Given the description of an element on the screen output the (x, y) to click on. 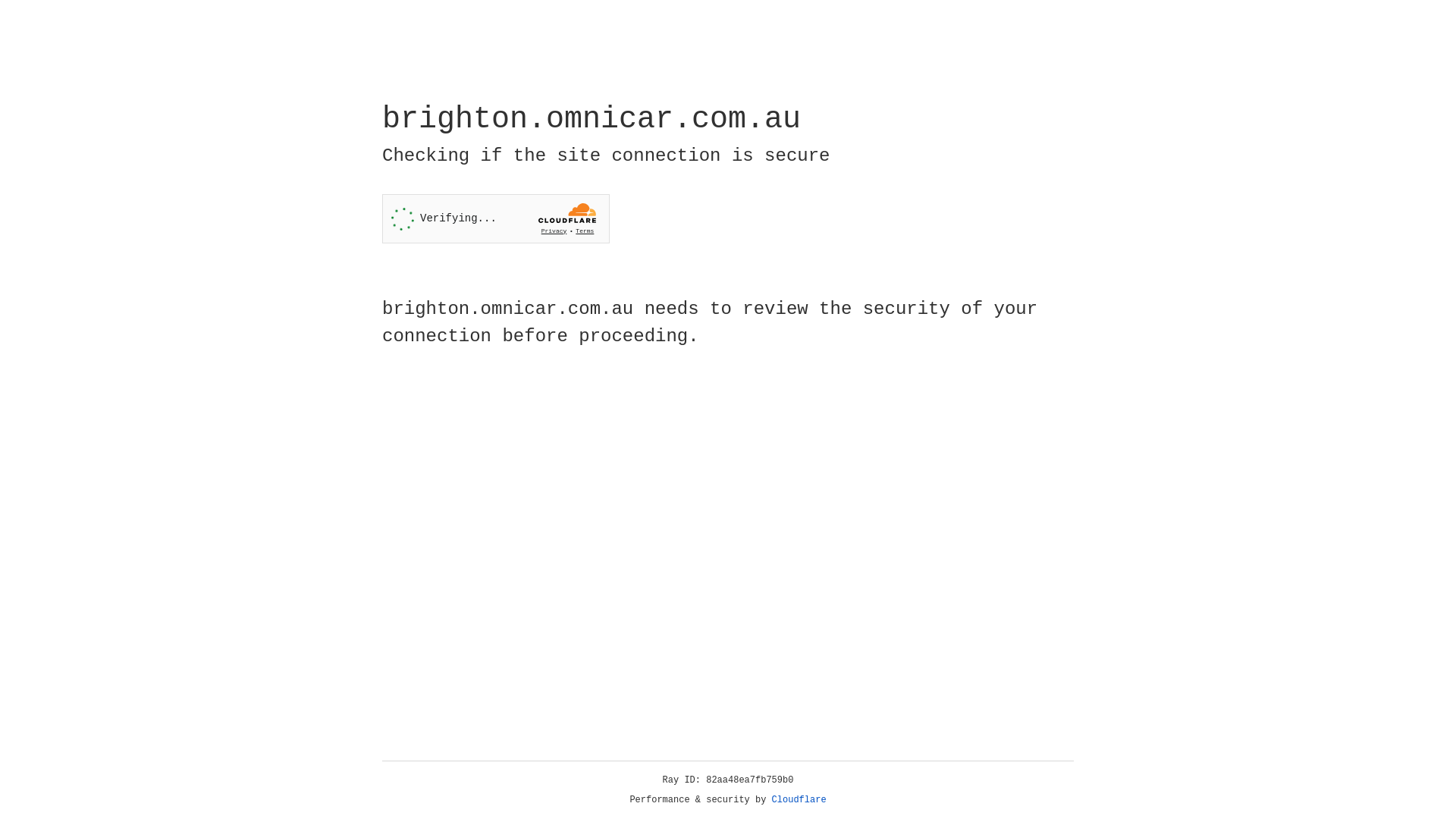
Widget containing a Cloudflare security challenge Element type: hover (495, 218)
Cloudflare Element type: text (798, 799)
